Given the description of an element on the screen output the (x, y) to click on. 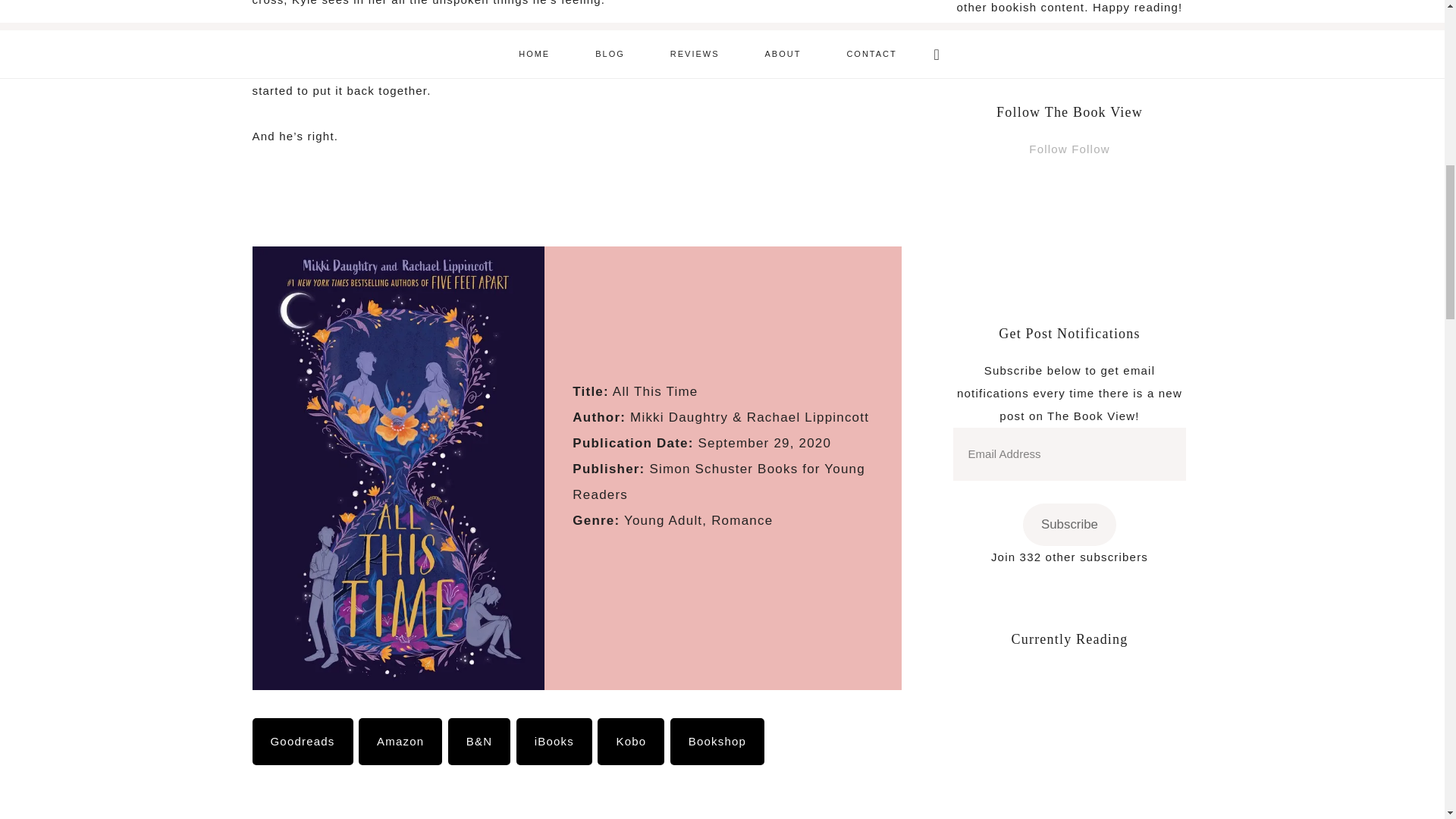
Amazon (400, 741)
Kobo (629, 741)
Goodreads (301, 741)
iBooks (554, 741)
Bookshop (716, 741)
